Given the description of an element on the screen output the (x, y) to click on. 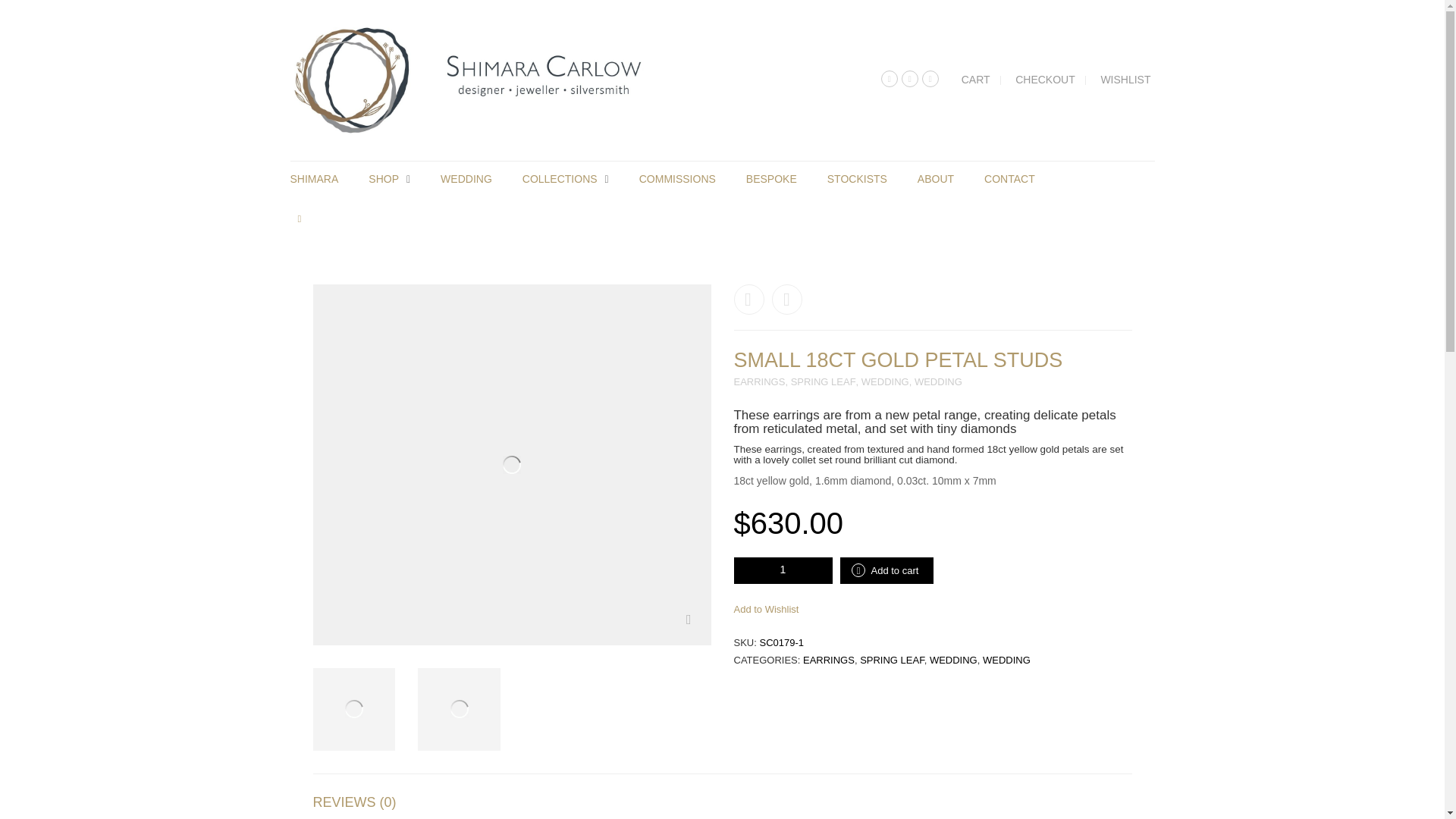
Qty (782, 570)
CART (975, 79)
thin silver wrap ring (748, 299)
1 (782, 570)
18ct gold cup studs with grey spinel (786, 299)
